Given the description of an element on the screen output the (x, y) to click on. 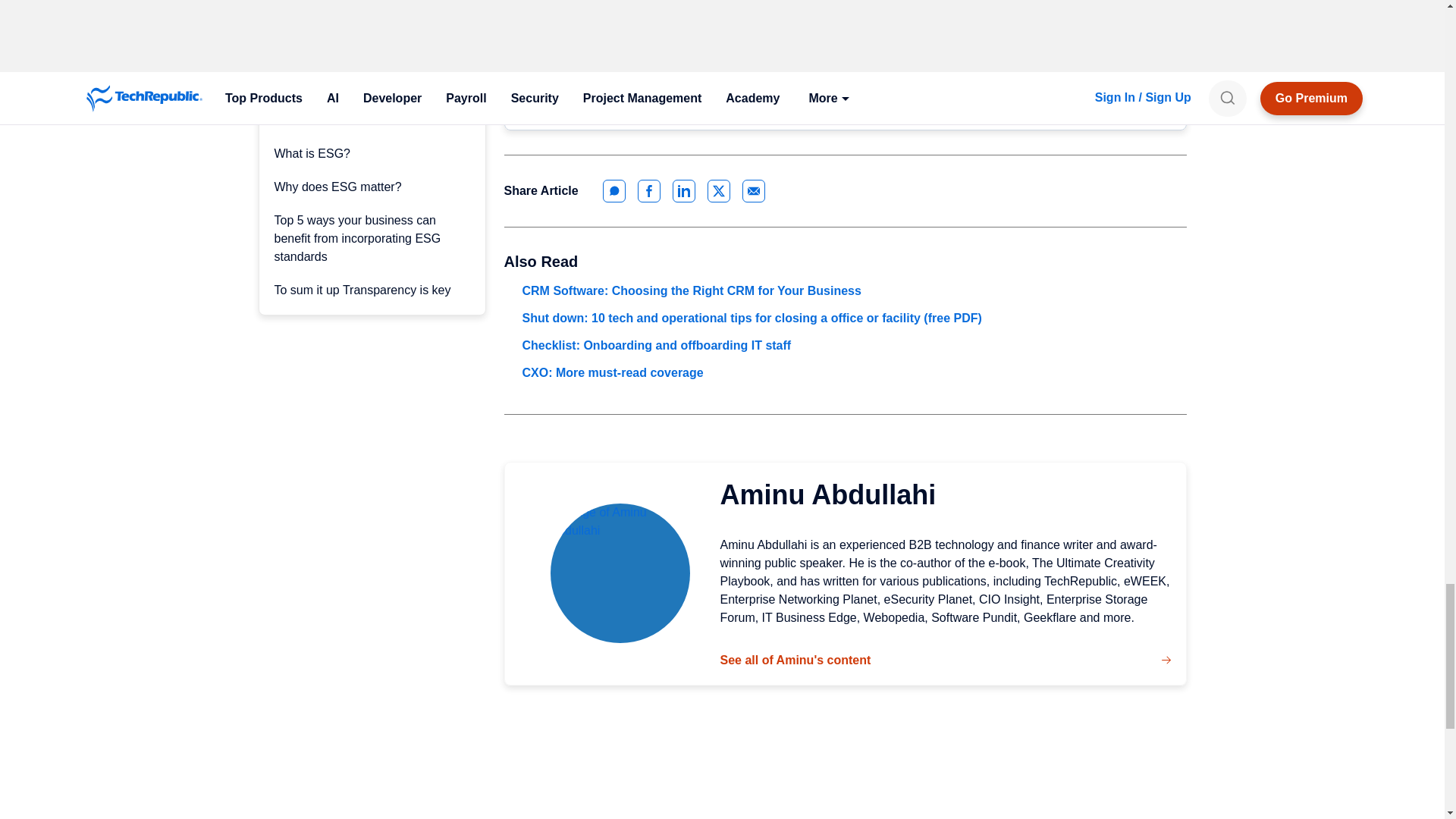
on (539, 43)
